Given the description of an element on the screen output the (x, y) to click on. 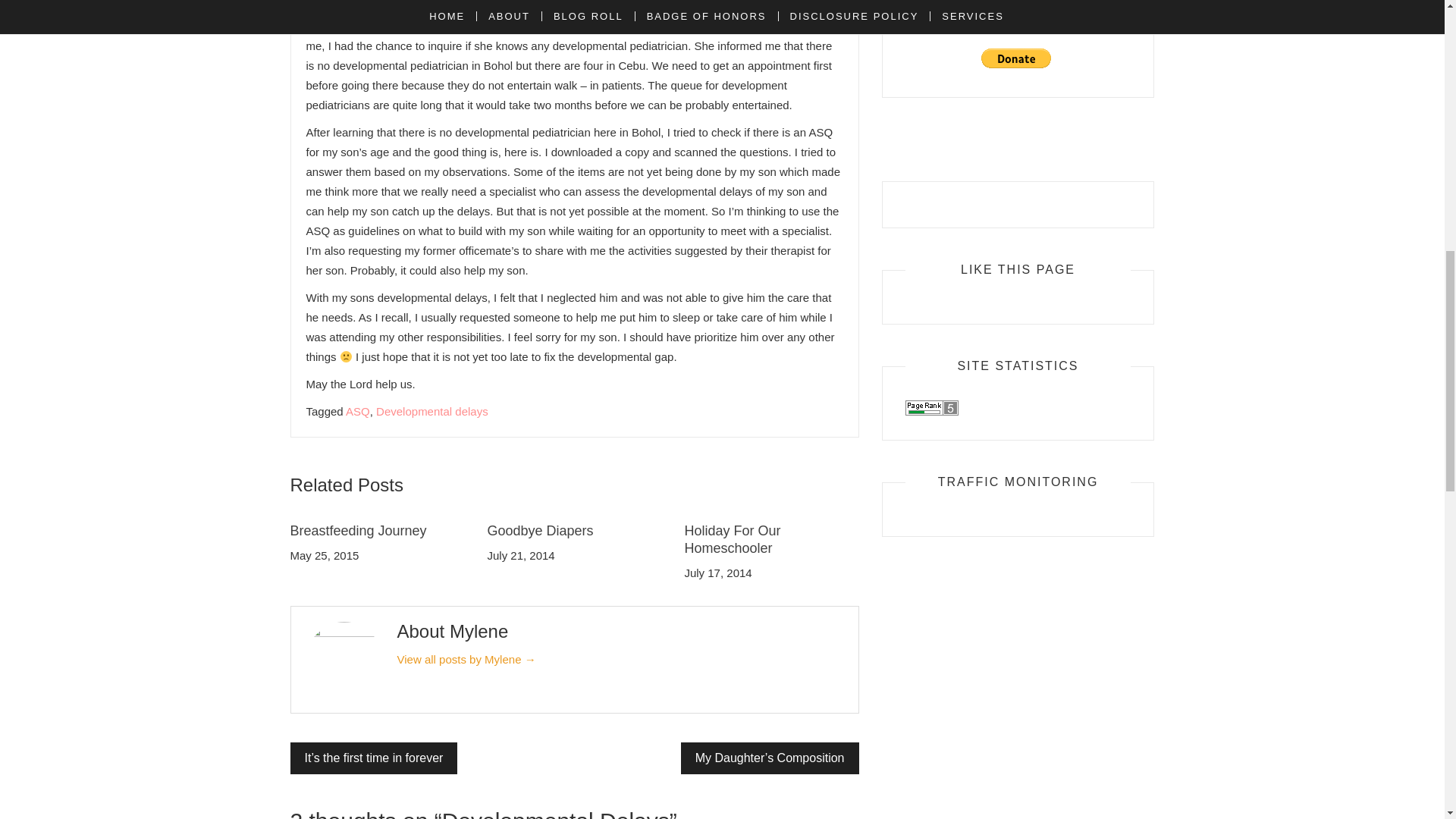
Breastfeeding Journey (357, 530)
Page Ranking Tool (931, 406)
Goodbye Diapers (539, 530)
Developmental delays (431, 410)
ASQ (357, 410)
Holiday For Our Homeschooler (732, 539)
